Given the description of an element on the screen output the (x, y) to click on. 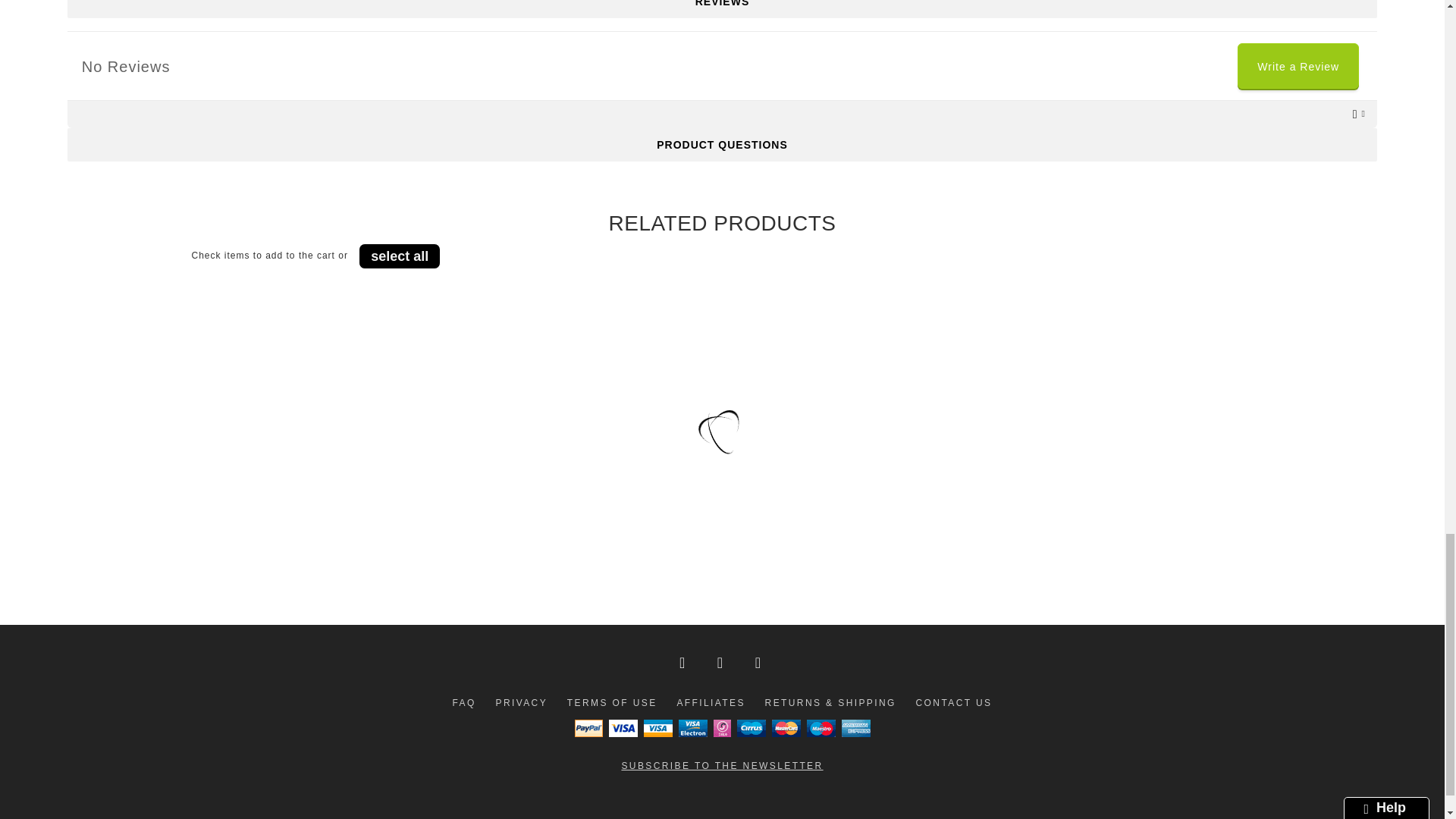
5997 (1115, 550)
ORLY Cutique Cuticle Remover 9ml (302, 492)
ORLY Won't Chip Top Coat 9ml (515, 492)
ORLY Tough Cookie 9ml (727, 492)
6001 (489, 550)
5999 (701, 550)
ORLY Tough Cookie 18ml (929, 492)
5998 (903, 550)
ORLY Nailtrition 9ml (1142, 492)
6003 (277, 550)
